Given the description of an element on the screen output the (x, y) to click on. 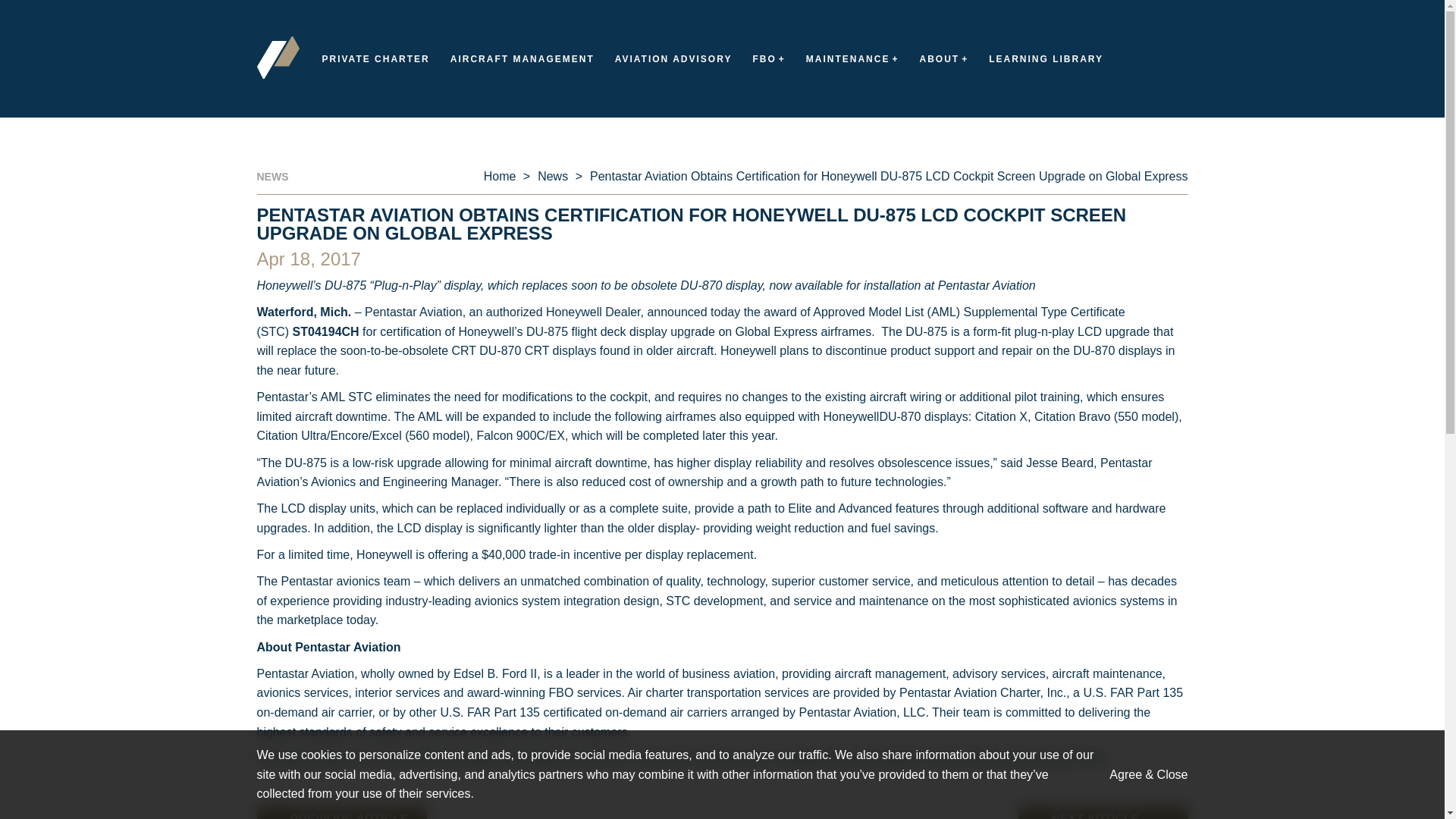
PRIVATE CHARTER (375, 58)
News (552, 175)
Home (499, 175)
LEARNING LIBRARY (1045, 58)
MAINTENANCE (852, 58)
AVIATION ADVISORY (673, 58)
AIRCRAFT MANAGEMENT (521, 58)
ABOUT (943, 58)
FBO (768, 58)
